Given the description of an element on the screen output the (x, y) to click on. 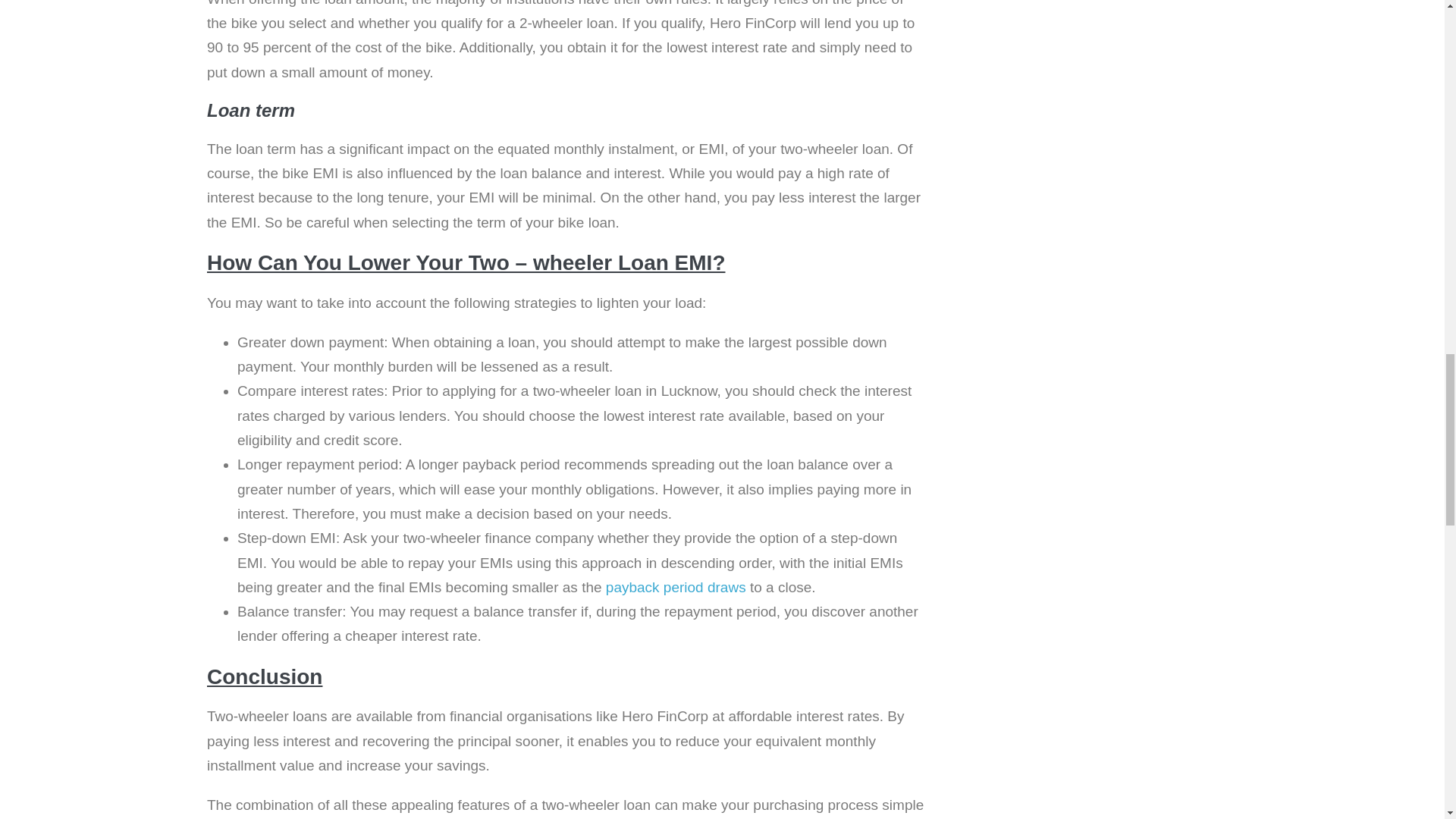
payback period draws (675, 587)
